Given the description of an element on the screen output the (x, y) to click on. 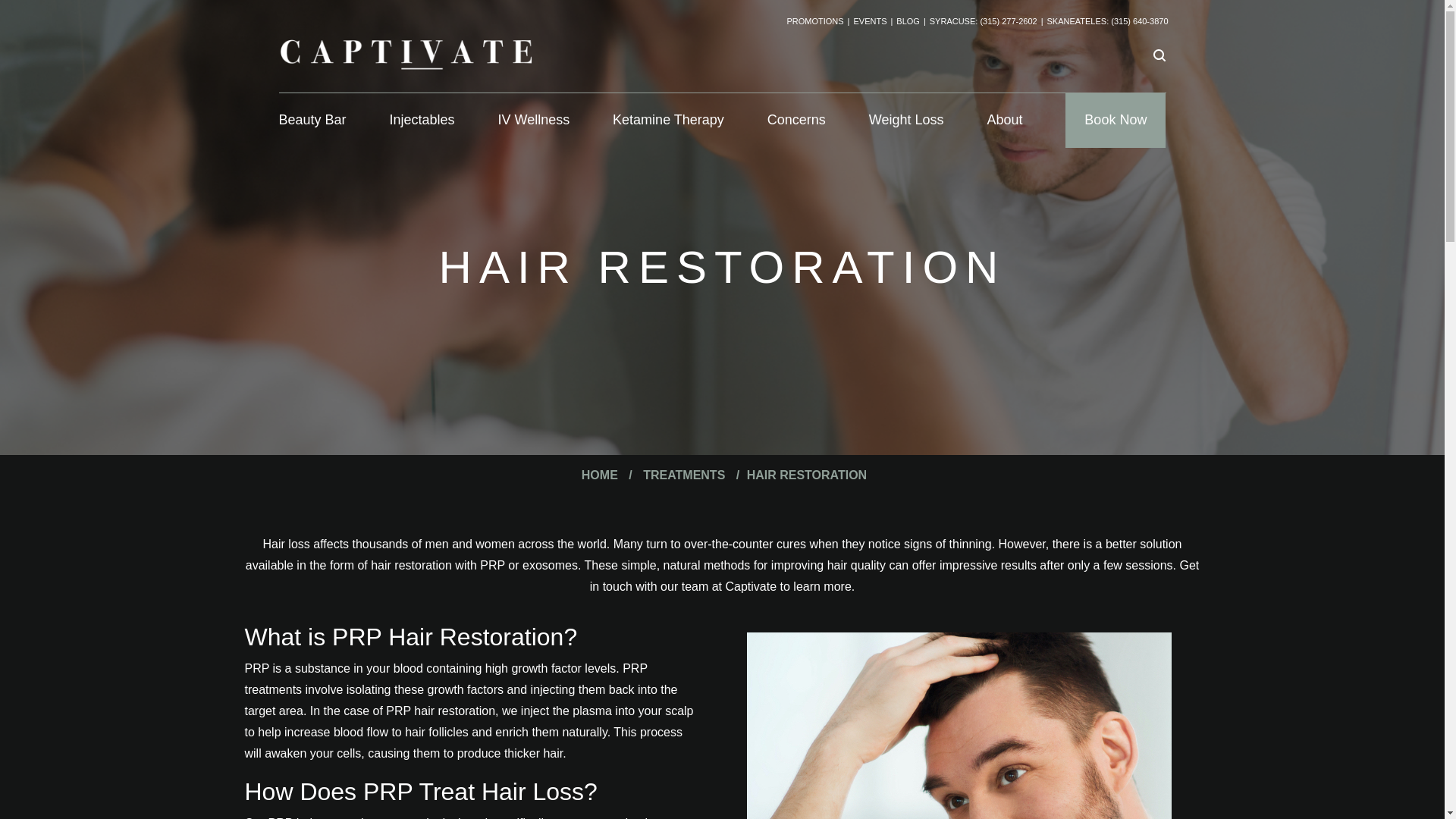
BLOG (908, 21)
Injectables (421, 120)
EVENTS (869, 21)
PROMOTIONS (814, 21)
Beauty Bar (312, 120)
IV Wellness (533, 120)
